Given the description of an element on the screen output the (x, y) to click on. 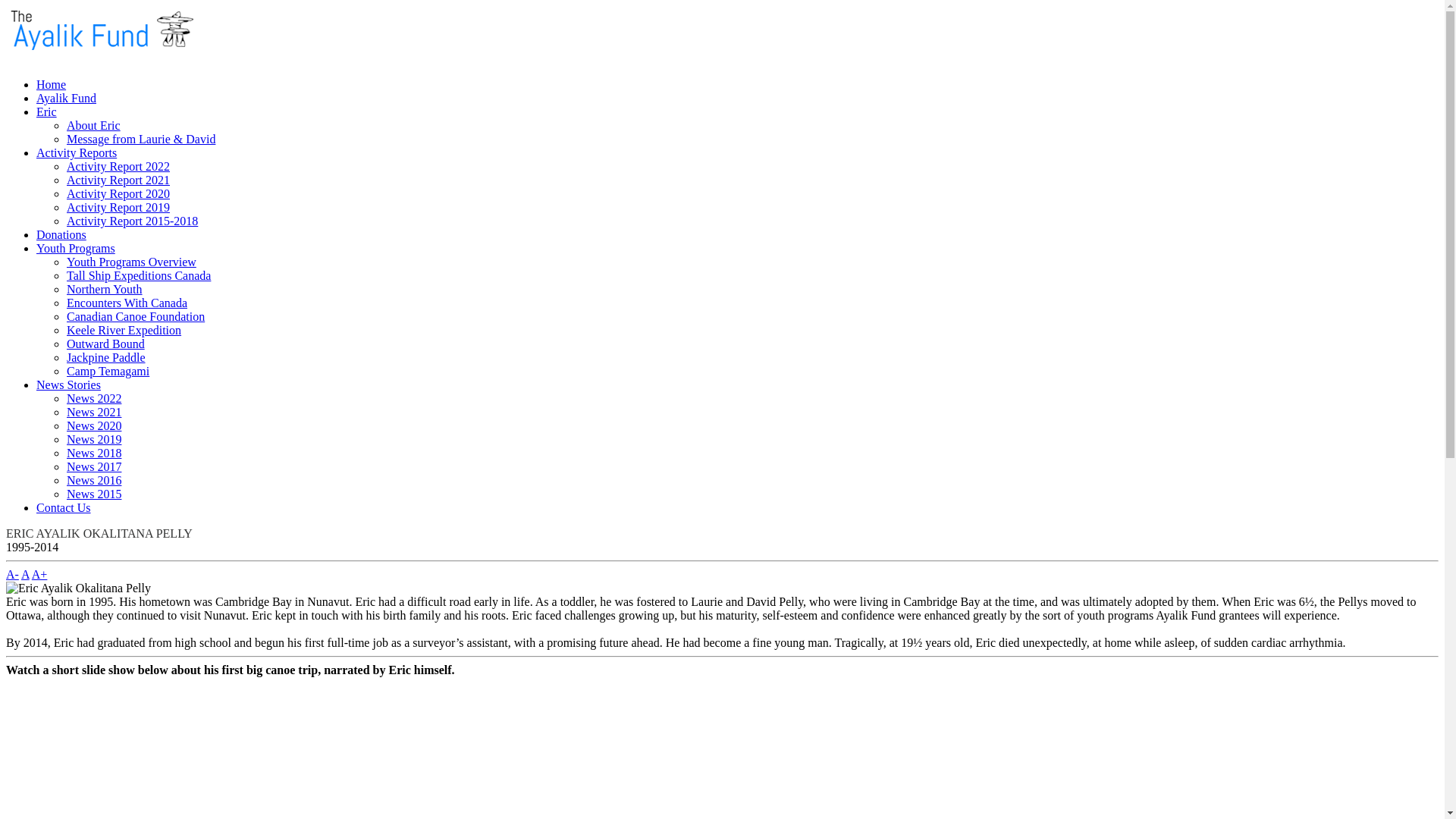
A- Element type: text (12, 573)
A+ Element type: text (39, 573)
News 2020 Element type: text (93, 425)
Activity Report 2021 Element type: text (117, 179)
Outward Bound Element type: text (105, 343)
Encounters With Canada Element type: text (126, 302)
Northern Youth Element type: text (104, 288)
News Stories Element type: text (68, 384)
Eric Element type: text (46, 111)
News 2018 Element type: text (93, 452)
Donations Element type: text (61, 234)
News 2021 Element type: text (93, 411)
News 2015 Element type: text (93, 493)
Youth Programs Element type: text (75, 247)
Camp Temagami Element type: text (107, 370)
Canadian Canoe Foundation Element type: text (135, 316)
Tall Ship Expeditions Canada Element type: text (138, 275)
Activity Reports Element type: text (76, 152)
News 2022 Element type: text (93, 398)
Jackpine Paddle Element type: text (105, 357)
Youth Programs Overview Element type: text (131, 261)
News 2017 Element type: text (93, 466)
News 2016 Element type: text (93, 479)
Activity Report 2022 Element type: text (117, 166)
Activity Report 2019 Element type: text (117, 206)
A Element type: text (25, 573)
Activity Report 2020 Element type: text (117, 193)
Keele River Expedition Element type: text (123, 329)
Ayalik Fund Element type: text (66, 97)
Contact Us Element type: text (63, 507)
Message from Laurie & David Element type: text (140, 138)
Activity Report 2015-2018 Element type: text (131, 220)
Home Element type: text (50, 84)
About Eric Element type: text (93, 125)
News 2019 Element type: text (93, 439)
